Given the description of an element on the screen output the (x, y) to click on. 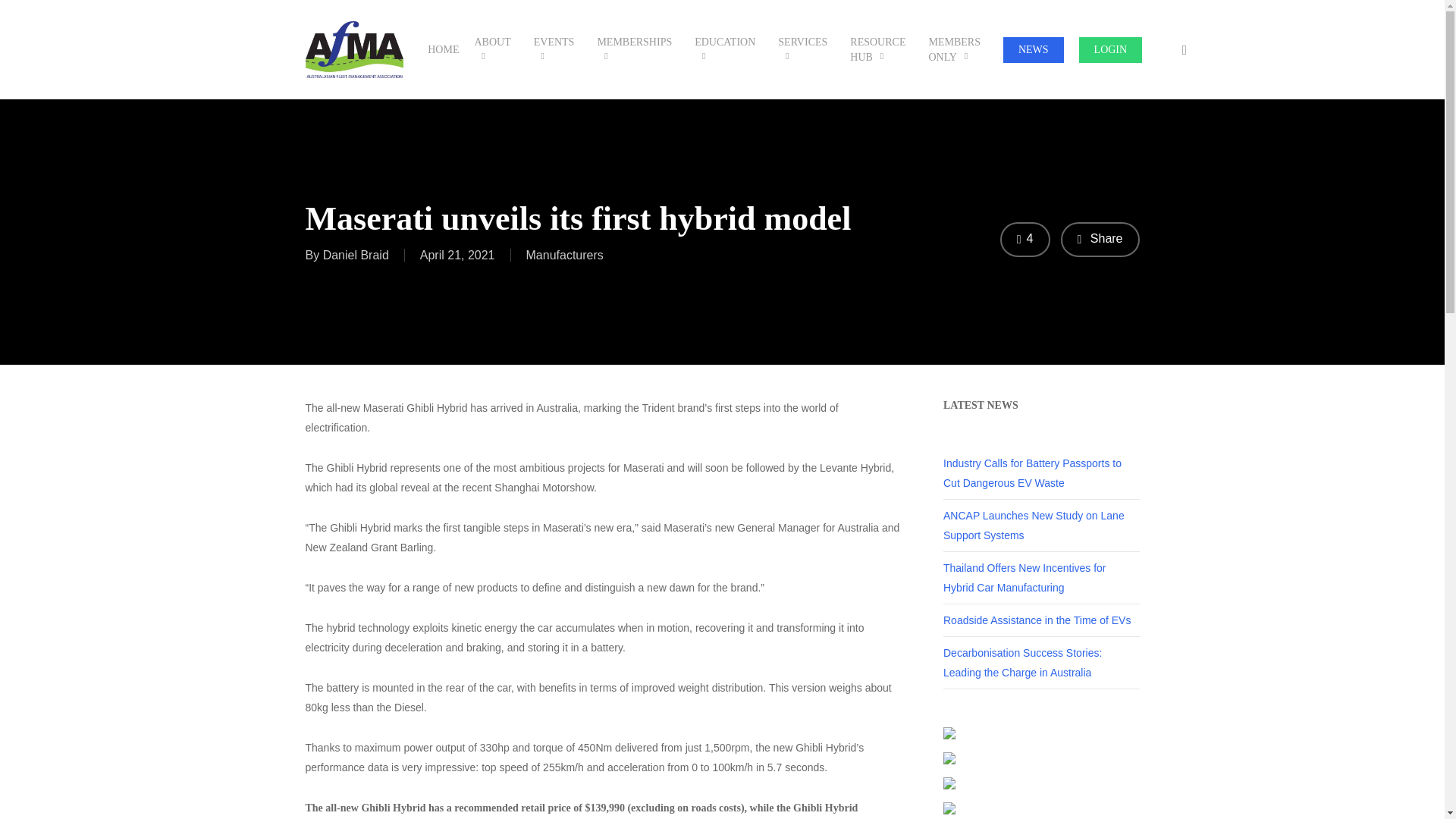
ABOUT (495, 50)
MEMBERSHIPS (638, 50)
HOME (442, 49)
Love this (1024, 239)
Posts by Daniel Braid (355, 254)
EVENTS (557, 50)
EDUCATION (728, 50)
